Given the description of an element on the screen output the (x, y) to click on. 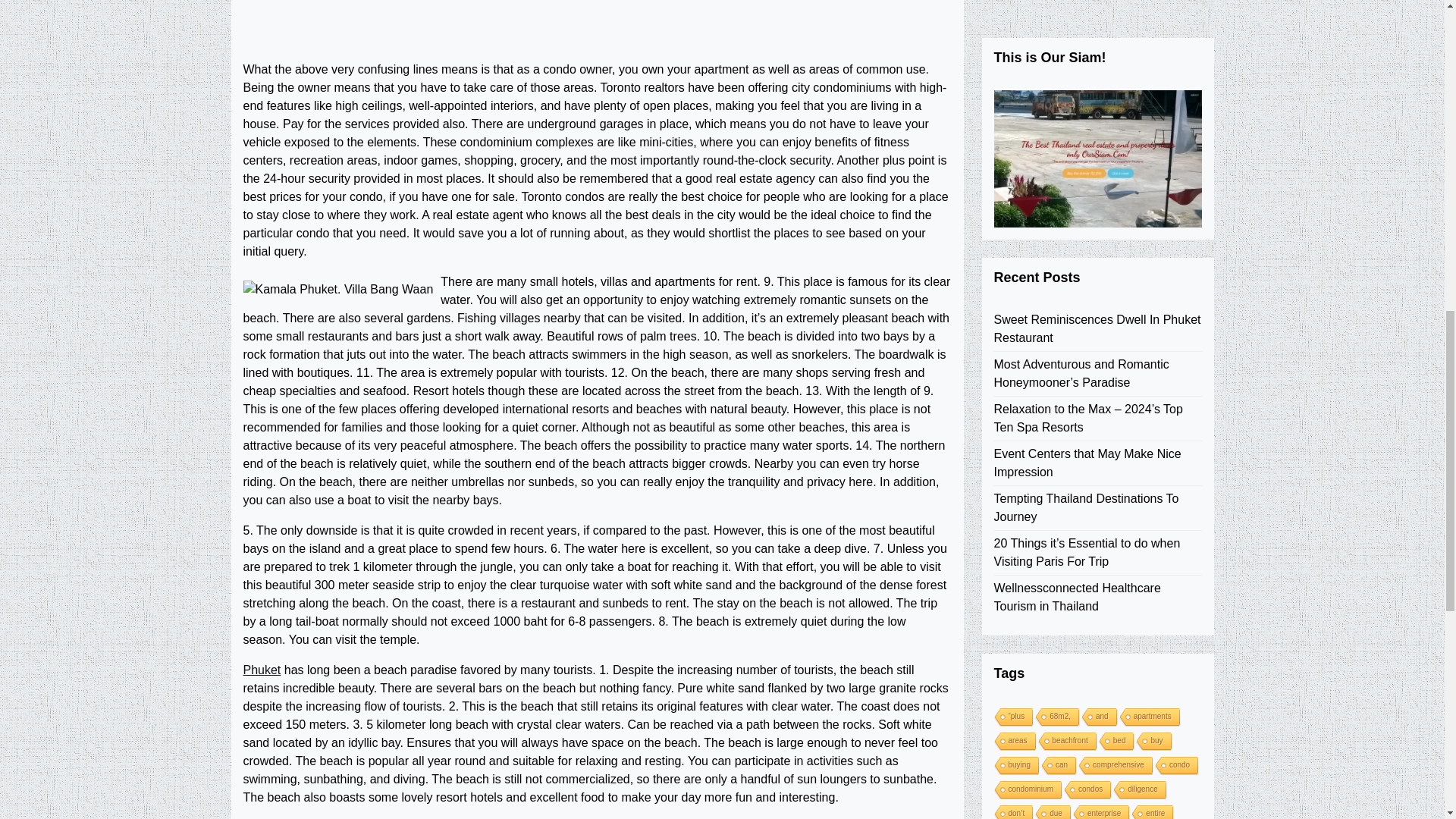
Tempting Thailand Destinations To Journey (1096, 61)
Phuket (262, 669)
68m2, (1055, 270)
and (1098, 270)
areas (1012, 294)
beachfront (1066, 294)
Wellnessconnected Healthcare Tourism in Thailand (1096, 150)
apartments (1148, 270)
Event Centers that May Make Nice Impression (1096, 17)
